Given the description of an element on the screen output the (x, y) to click on. 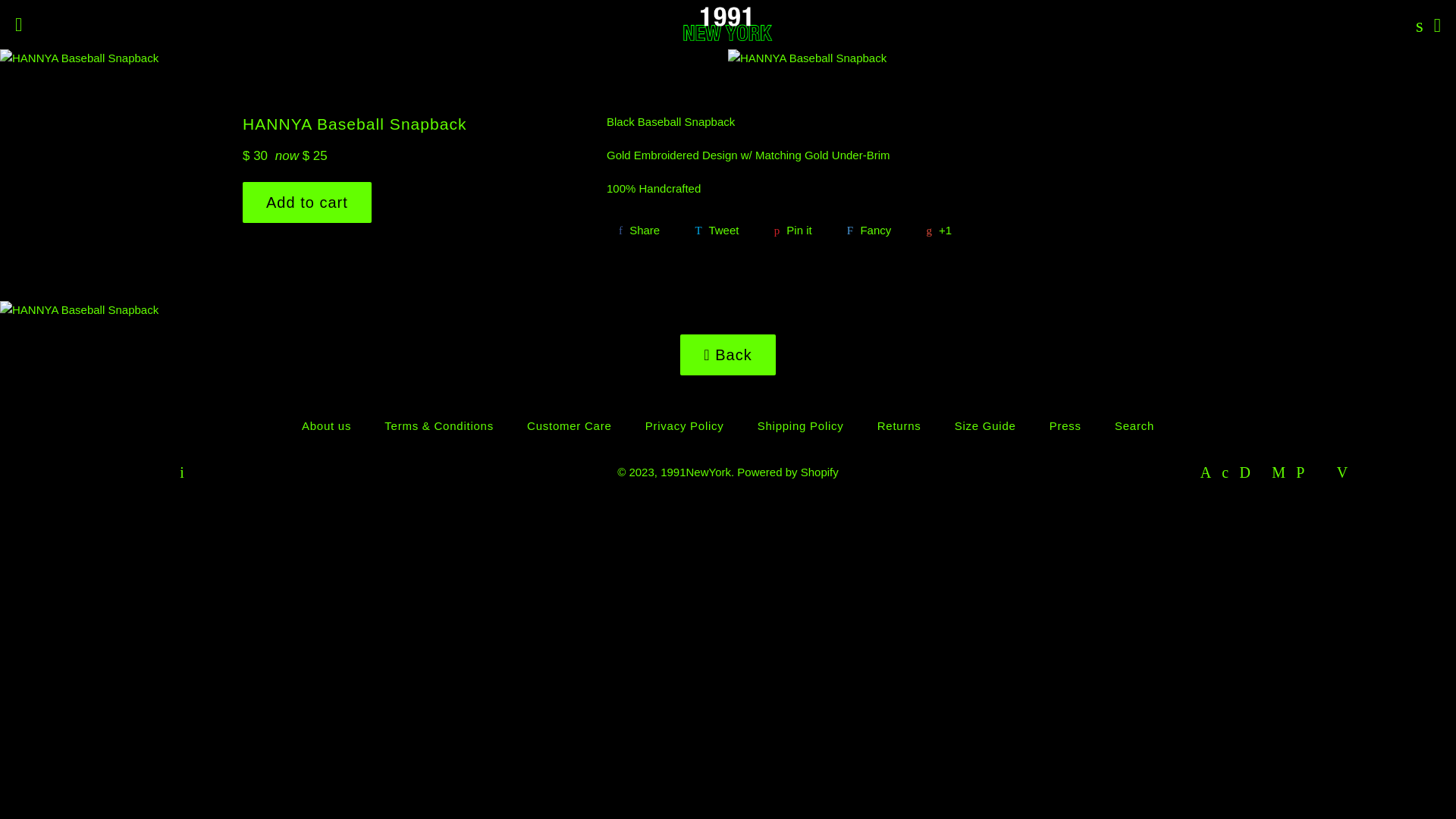
Search Element type: text (1415, 24)
Press Element type: text (1065, 425)
Fancy Element type: text (868, 230)
Share Element type: text (638, 230)
Customer Care Element type: text (568, 425)
Back Element type: text (727, 354)
Add to cart Element type: text (306, 202)
About us Element type: text (326, 425)
Tweet Element type: text (716, 230)
Powered by Shopify Element type: text (787, 471)
Returns Element type: text (899, 425)
Privacy Policy Element type: text (684, 425)
Search Element type: text (1134, 425)
Pin it Element type: text (793, 230)
Cart Element type: text (1437, 24)
Shipping Policy Element type: text (800, 425)
Instagram Element type: text (181, 473)
Menu Element type: text (18, 24)
Terms & Conditions Element type: text (438, 425)
1991NewYork Element type: text (695, 471)
Size Guide Element type: text (985, 425)
+1 Element type: text (938, 230)
